Given the description of an element on the screen output the (x, y) to click on. 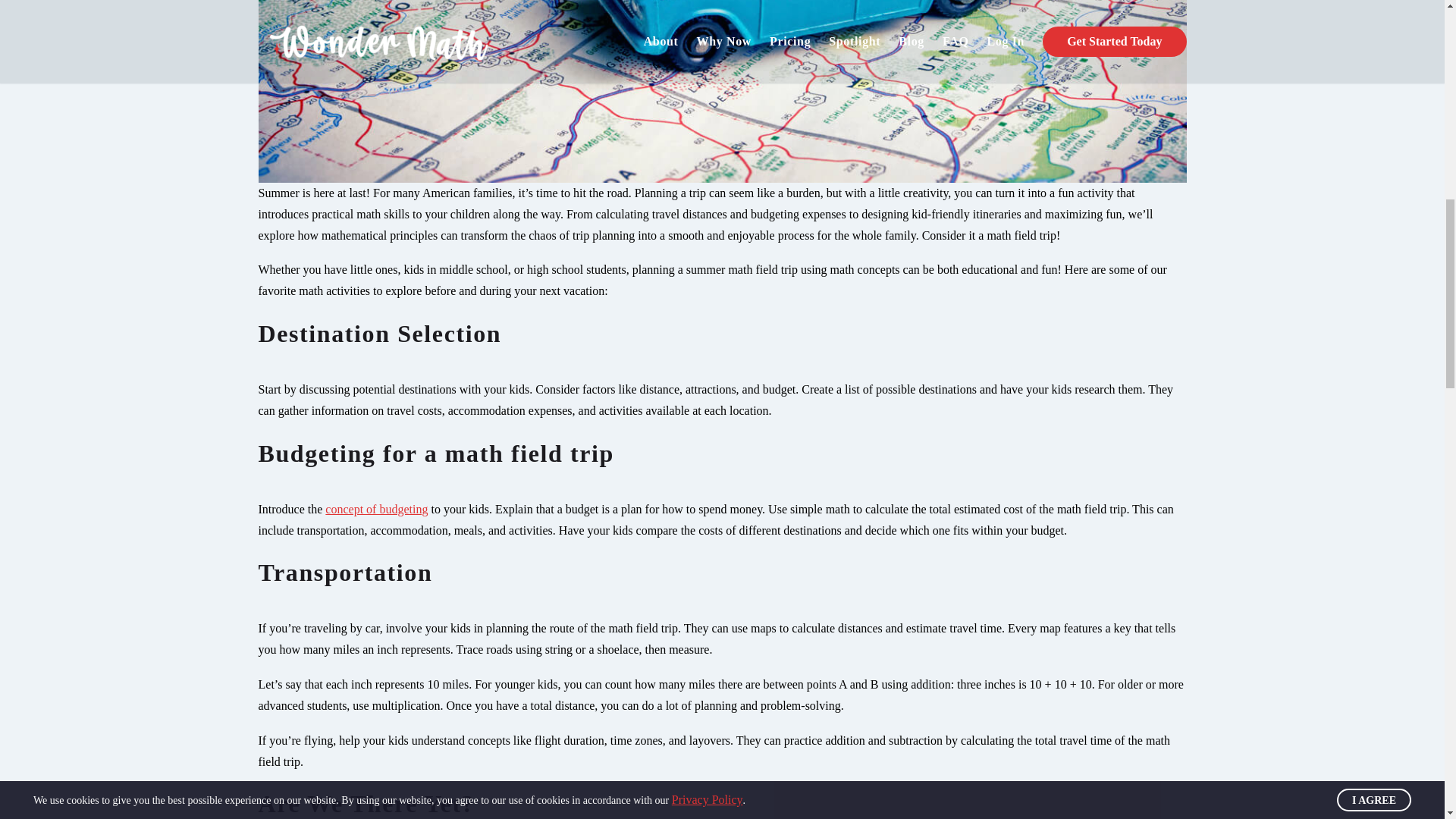
concept of budgeting (376, 508)
